Given the description of an element on the screen output the (x, y) to click on. 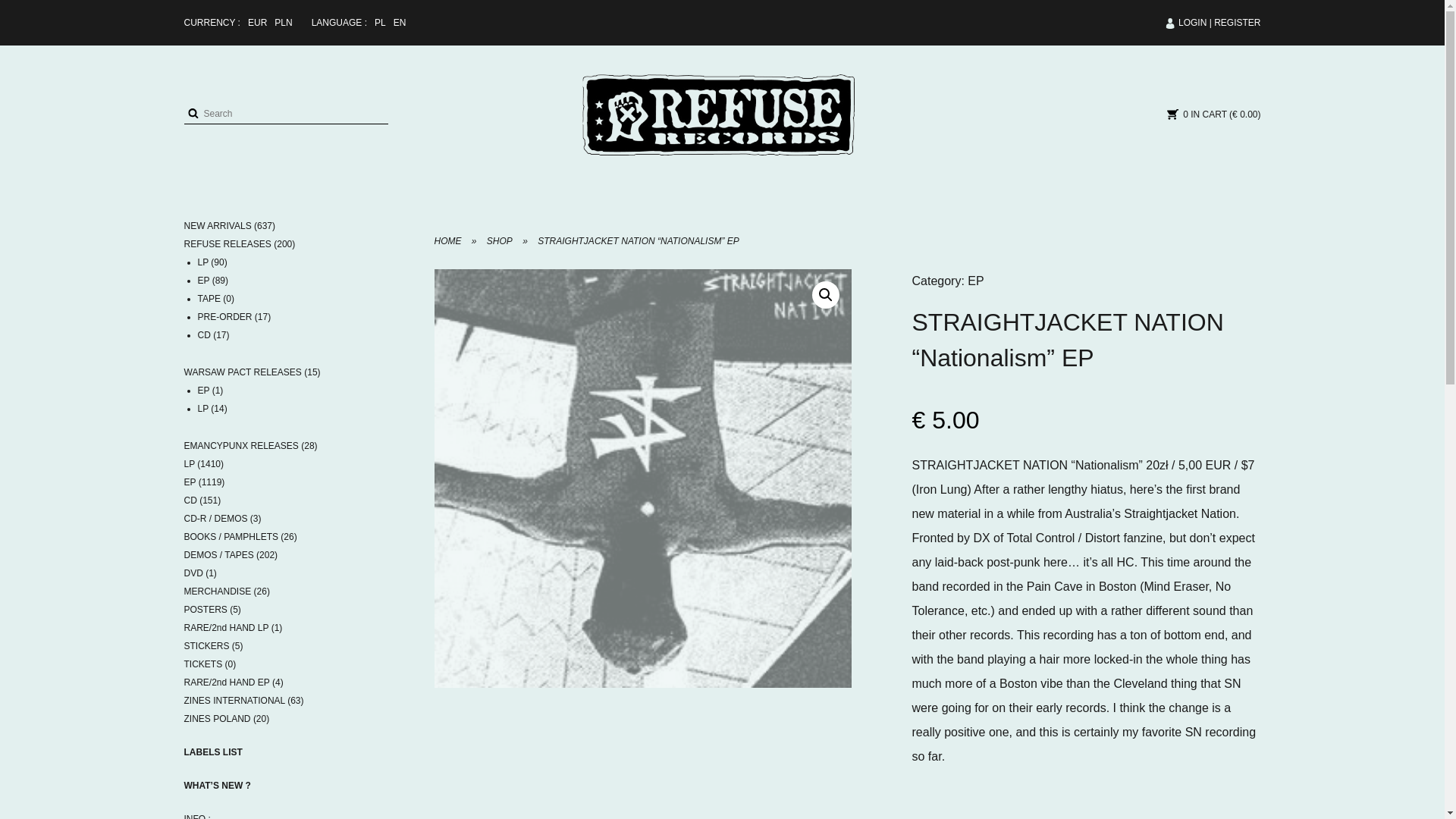
PLN (283, 22)
EP (189, 481)
LP (188, 463)
LABELS LIST (212, 751)
PRE-ORDER (223, 317)
ZINES POLAND (216, 718)
MERCHANDISE (216, 591)
TICKETS (202, 664)
DVD (192, 573)
ZINES INTERNATIONAL (233, 700)
